Given the description of an element on the screen output the (x, y) to click on. 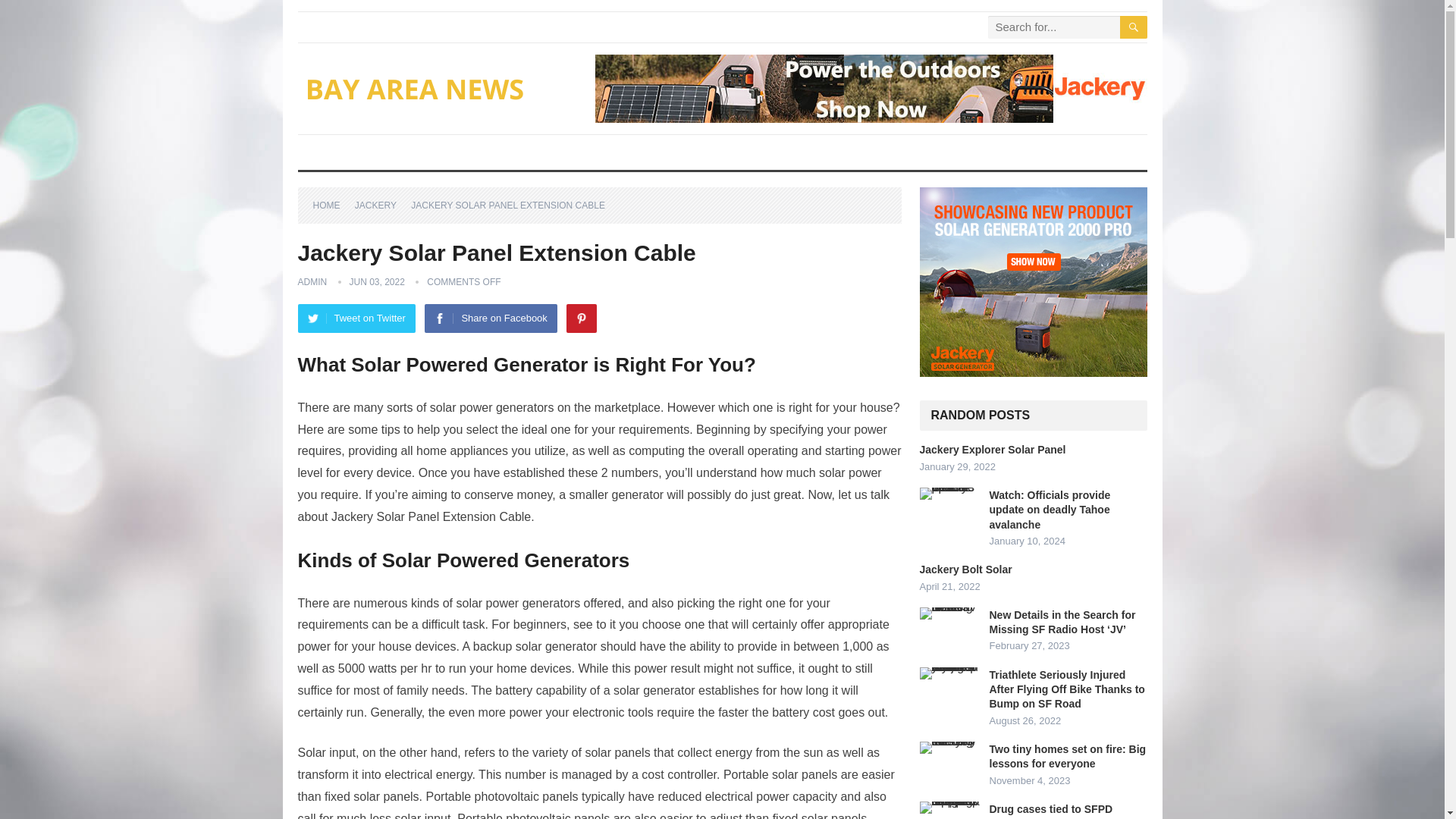
Tweet on Twitter (355, 317)
ADMIN (311, 281)
HOME (331, 204)
Posts by admin (311, 281)
Pinterest (581, 317)
JACKERY (381, 204)
Share on Facebook (490, 317)
View all posts in jackery (381, 204)
